Given the description of an element on the screen output the (x, y) to click on. 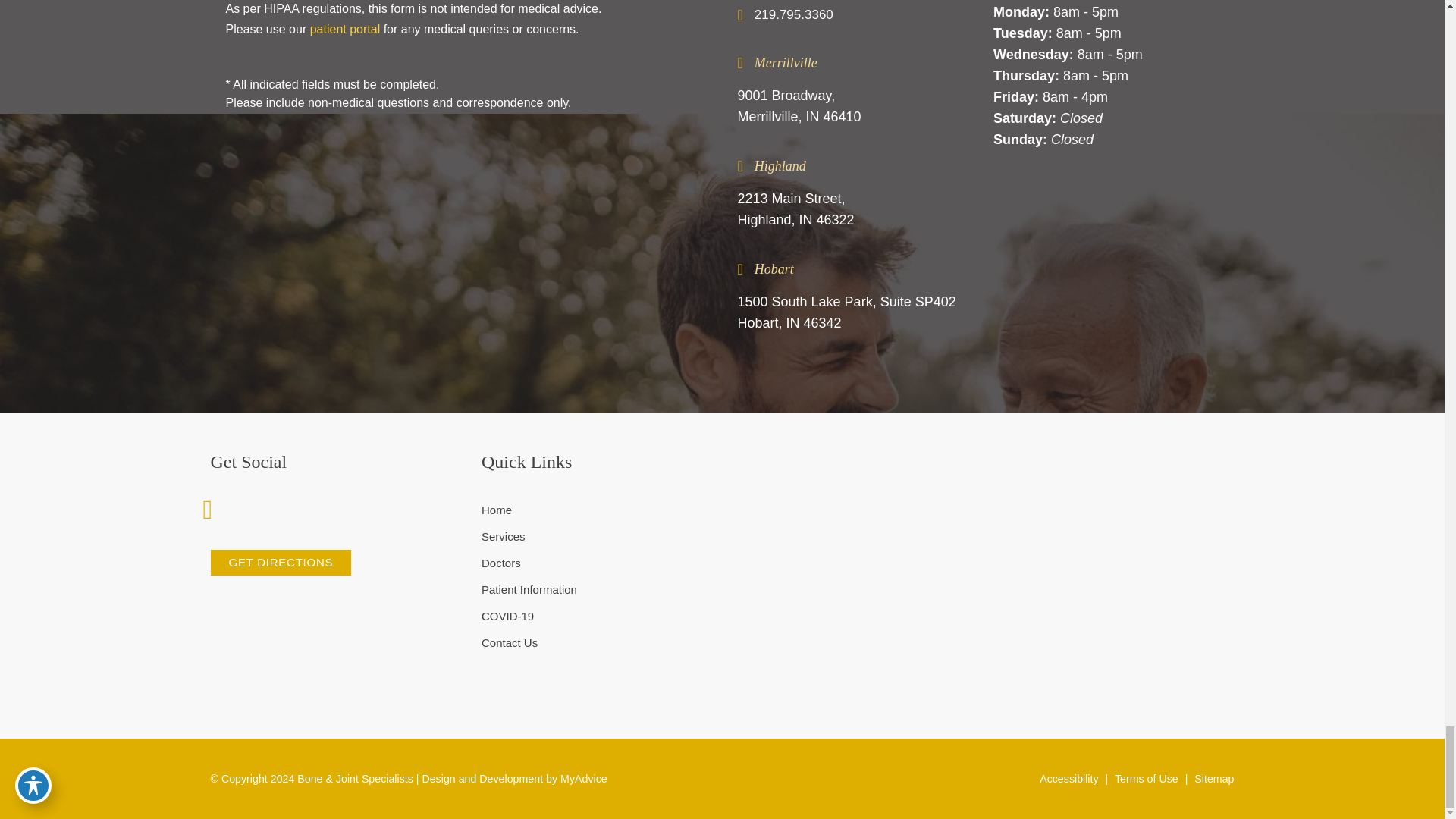
Map Location (973, 540)
